Given the description of an element on the screen output the (x, y) to click on. 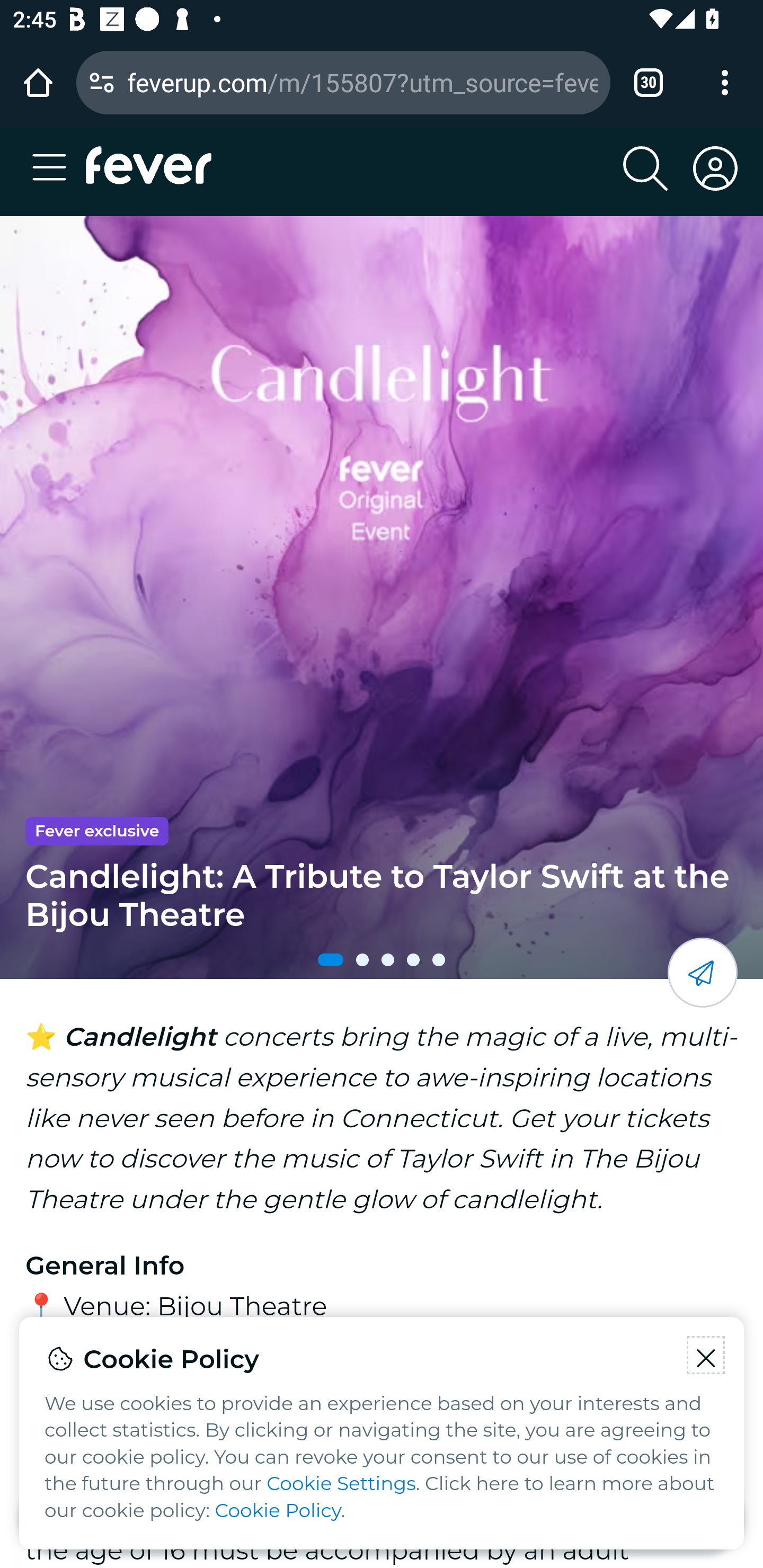
Open the home page (38, 82)
Connection is secure (101, 82)
Switch or close tabs (648, 82)
Customize and control Google Chrome (724, 82)
Toggle navigation (55, 168)
Cookie Settings (340, 1484)
Cookie Policy (277, 1510)
